Given the description of an element on the screen output the (x, y) to click on. 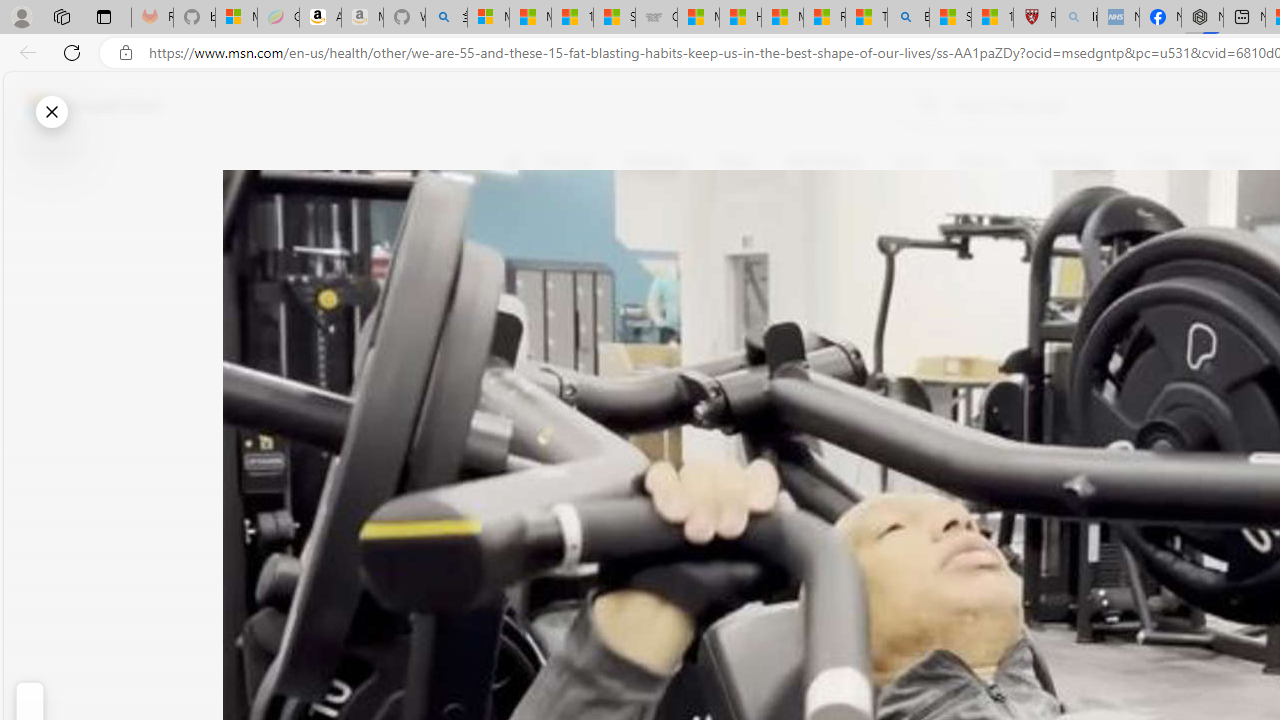
Body Network (788, 259)
Science (980, 162)
Skip to content (86, 105)
Class: button-glyph (513, 162)
Bing (908, 17)
Dislike (525, 300)
Technology (1071, 162)
Open navigation menu (513, 162)
